Given the description of an element on the screen output the (x, y) to click on. 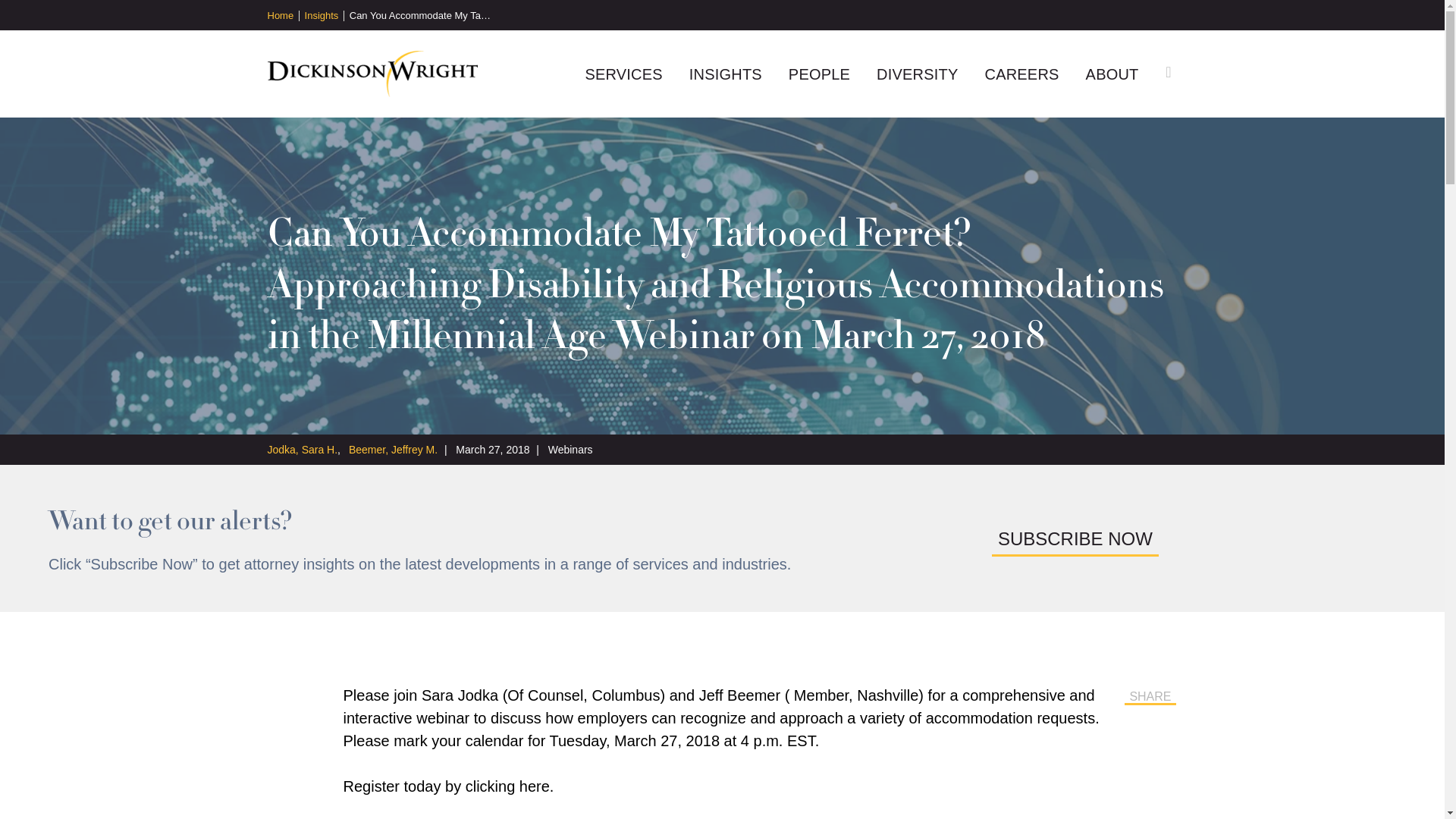
DIVERSITY (917, 73)
Beemer, Jeffrey M. (393, 449)
SERVICES (623, 73)
PEOPLE (819, 73)
ABOUT (1112, 73)
SUBSCRIBE NOW (1074, 538)
CAREERS (1021, 73)
Home (282, 15)
Registration link  (534, 786)
SHARE (1149, 694)
